Given the description of an element on the screen output the (x, y) to click on. 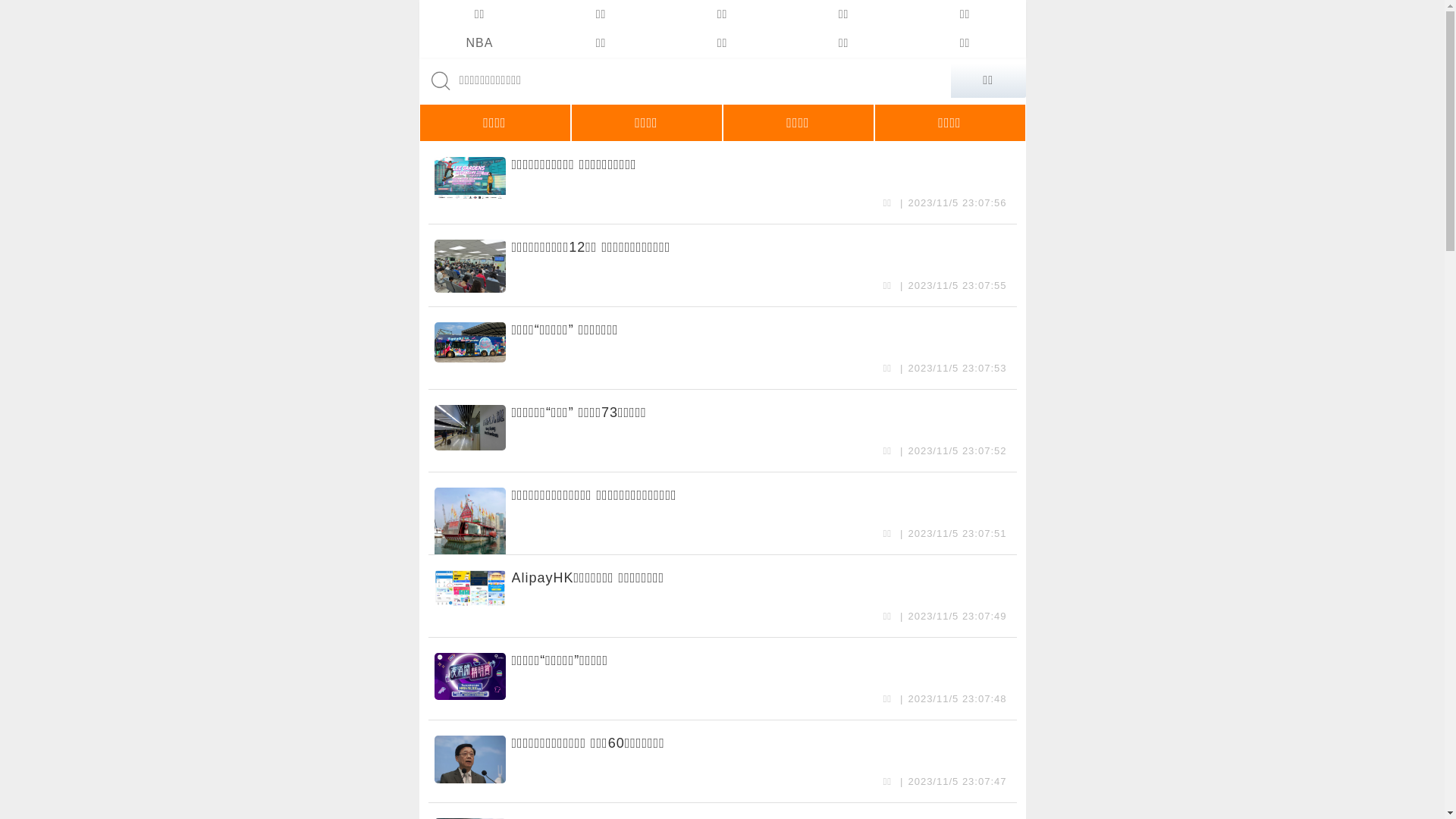
NBA Element type: text (478, 42)
